Given the description of an element on the screen output the (x, y) to click on. 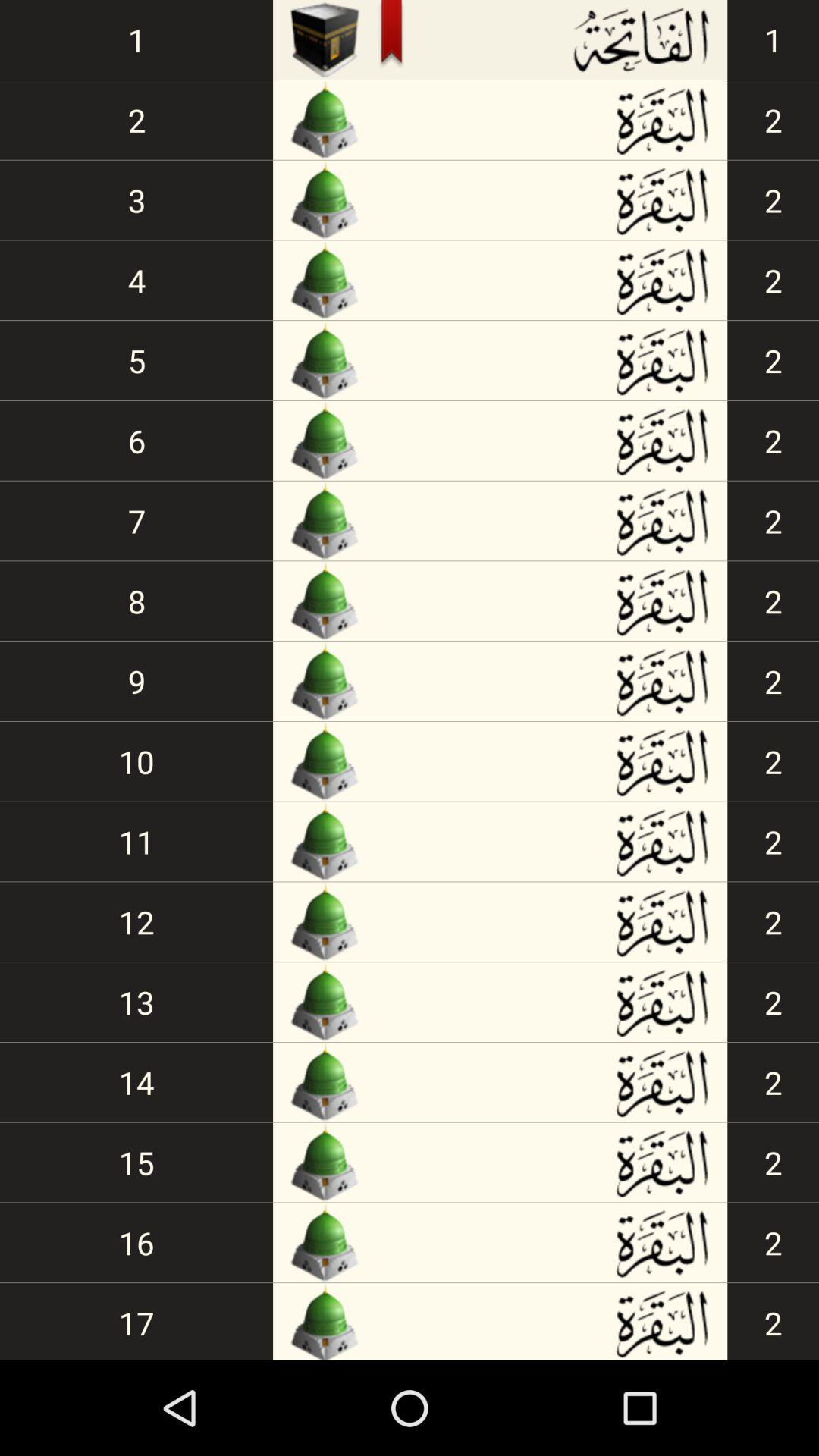
launch icon below 6 item (136, 520)
